Given the description of an element on the screen output the (x, y) to click on. 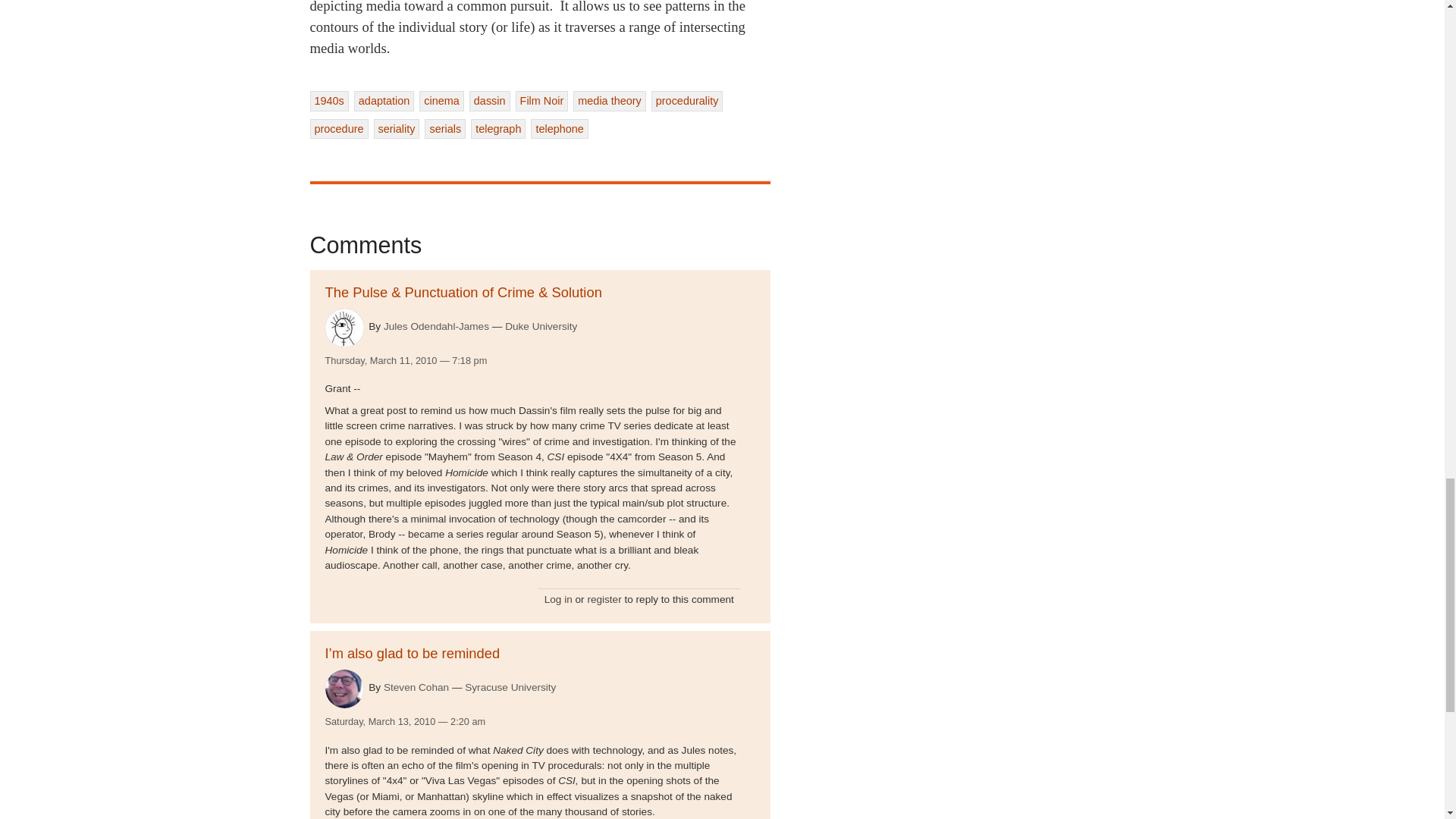
1940s (327, 100)
User profile: Jules Odendahl-James (436, 326)
dassin (489, 100)
procedurality (686, 100)
View user profile. (343, 688)
seriality (397, 128)
telegraph (497, 128)
cinema (441, 100)
Syracuse University (510, 687)
View user profile. (343, 327)
procedure (338, 128)
User profile: Steven Cohan (416, 686)
Film Noir (542, 100)
Duke University (540, 326)
serials (445, 128)
